Given the description of an element on the screen output the (x, y) to click on. 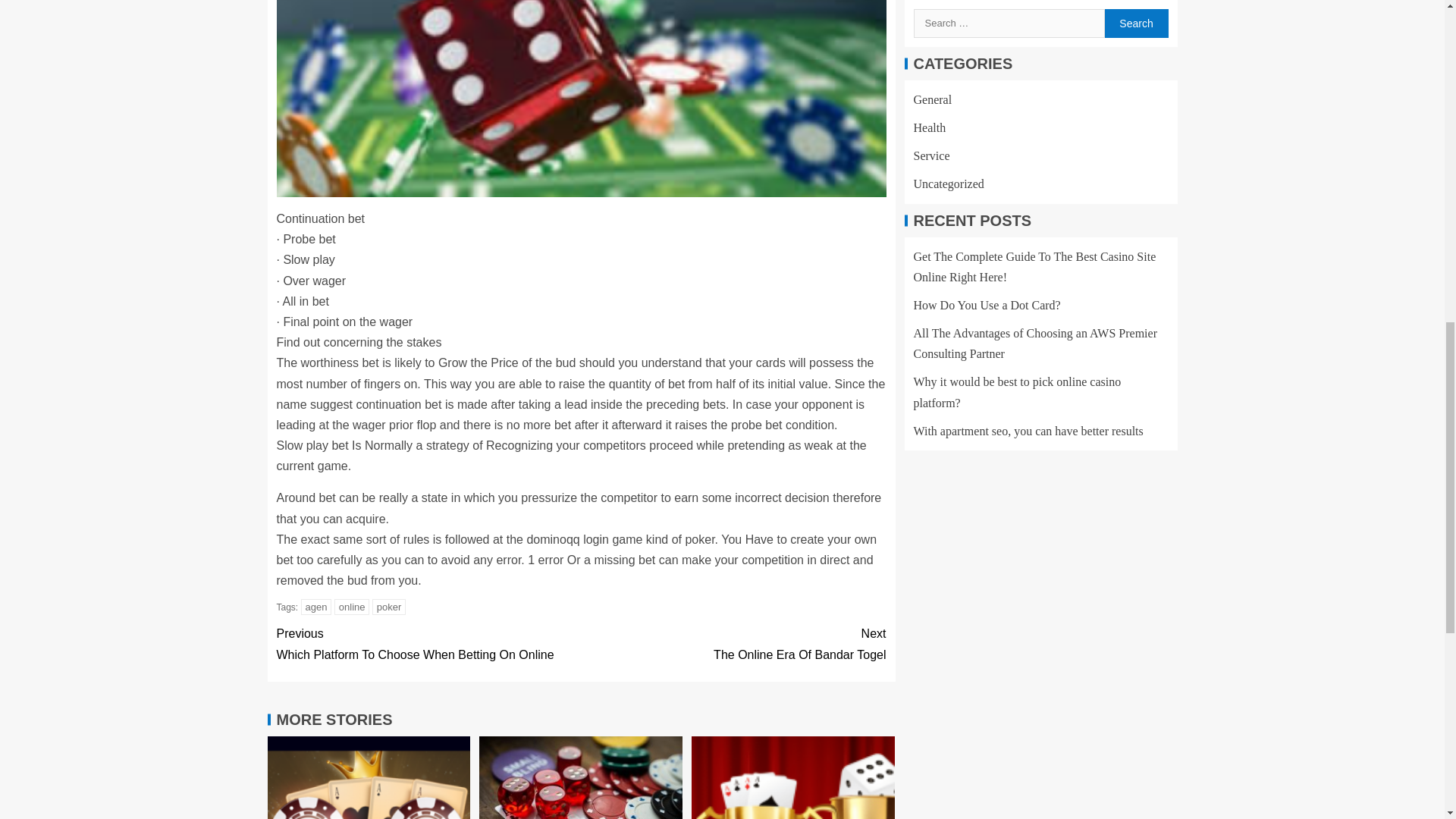
agen (316, 606)
poker (389, 606)
online (428, 643)
